Given the description of an element on the screen output the (x, y) to click on. 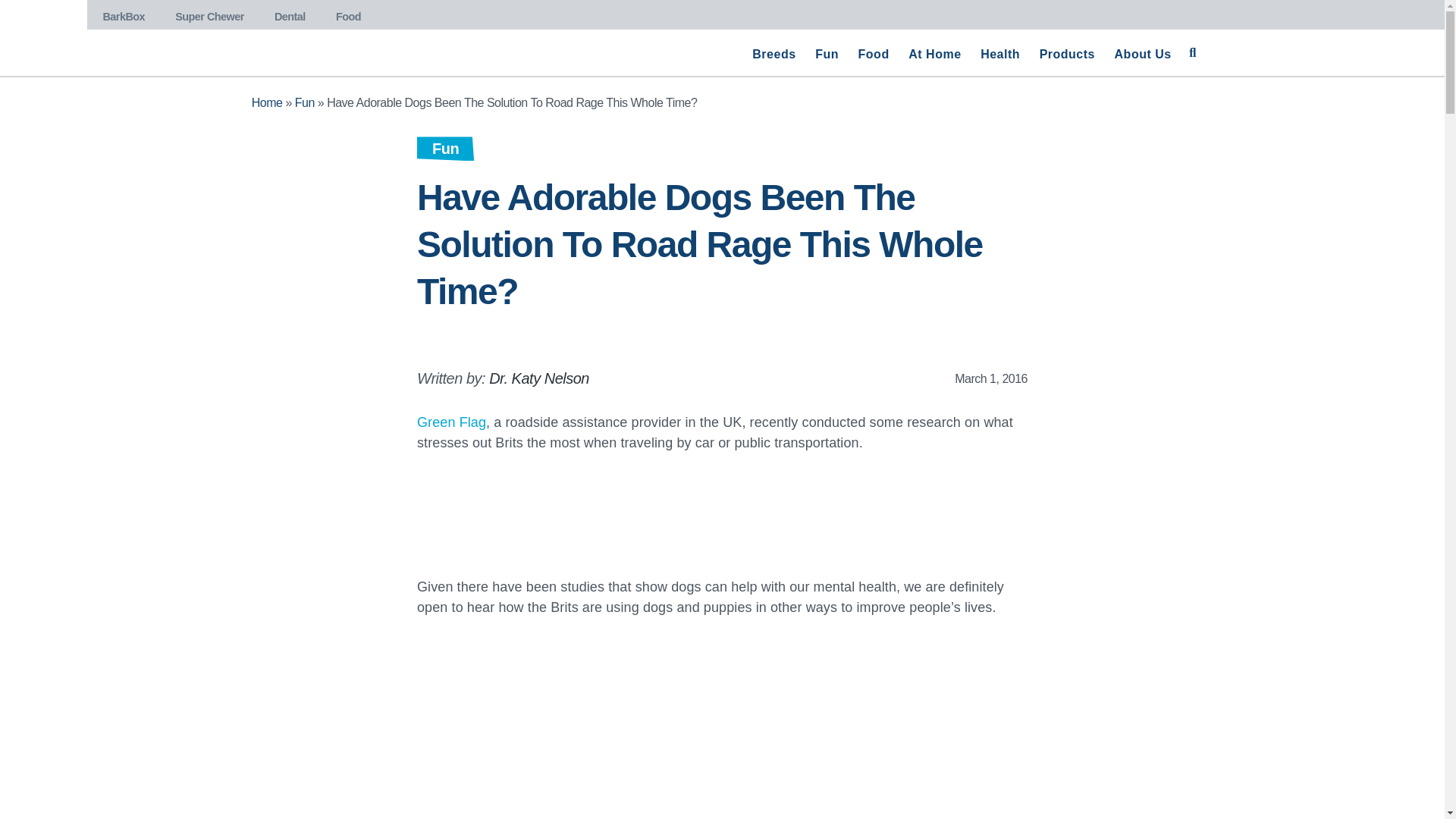
About Us (1142, 53)
Breeds (774, 53)
Green Flag (451, 421)
Super Chewer (209, 14)
Fun (445, 148)
Dr. Katy Nelson (539, 378)
Fun (826, 53)
BarkBox (122, 14)
Food (873, 53)
Fun (304, 102)
